Given the description of an element on the screen output the (x, y) to click on. 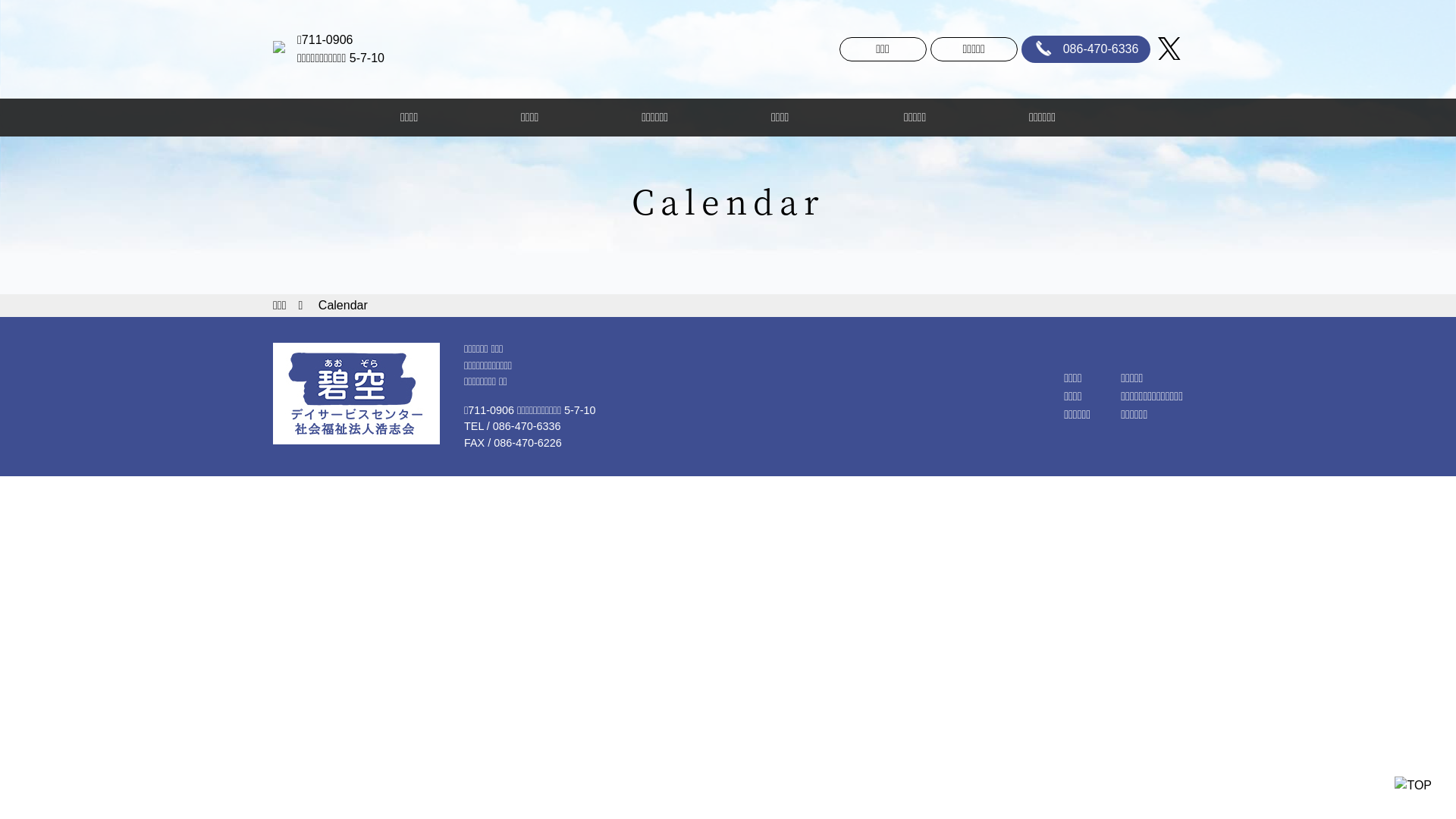
086-470-6336 Element type: text (526, 426)
086-470-6336 Element type: text (1086, 49)
